Given the description of an element on the screen output the (x, y) to click on. 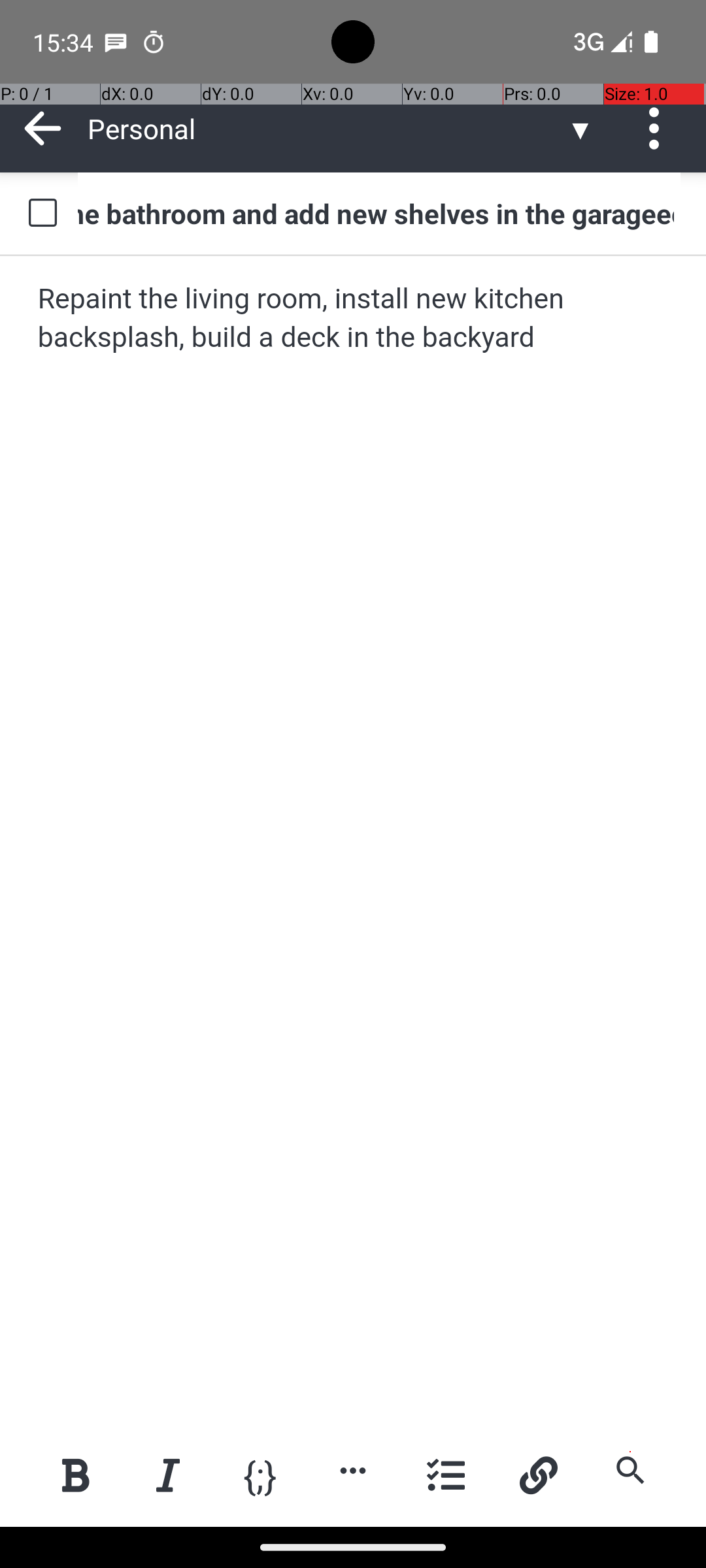
Home Improvement ProjRenovate the bathroom and add new shelves in the garageects Element type: android.widget.EditText (378, 213)
Repaint the living room, install new kitchen backsplash, build a deck in the backyard Element type: android.widget.EditText (354, 318)
